Given the description of an element on the screen output the (x, y) to click on. 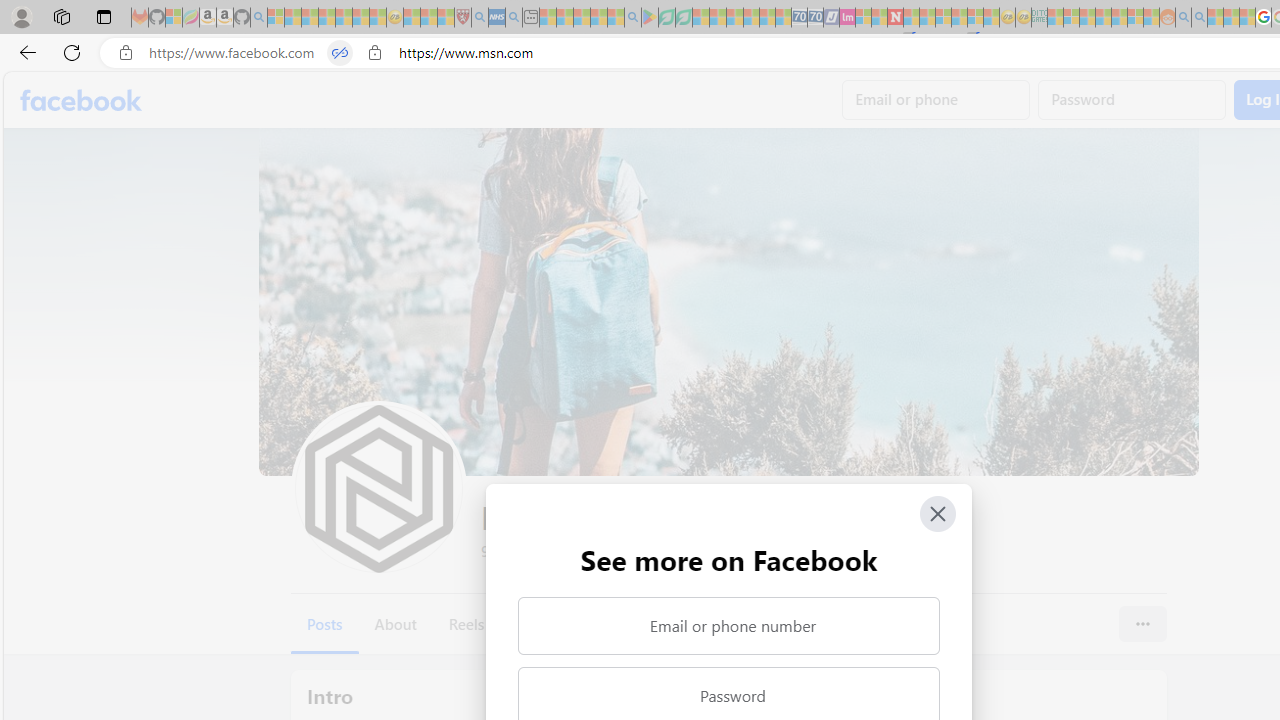
Facebook (81, 99)
Email or phone (936, 99)
